Given the description of an element on the screen output the (x, y) to click on. 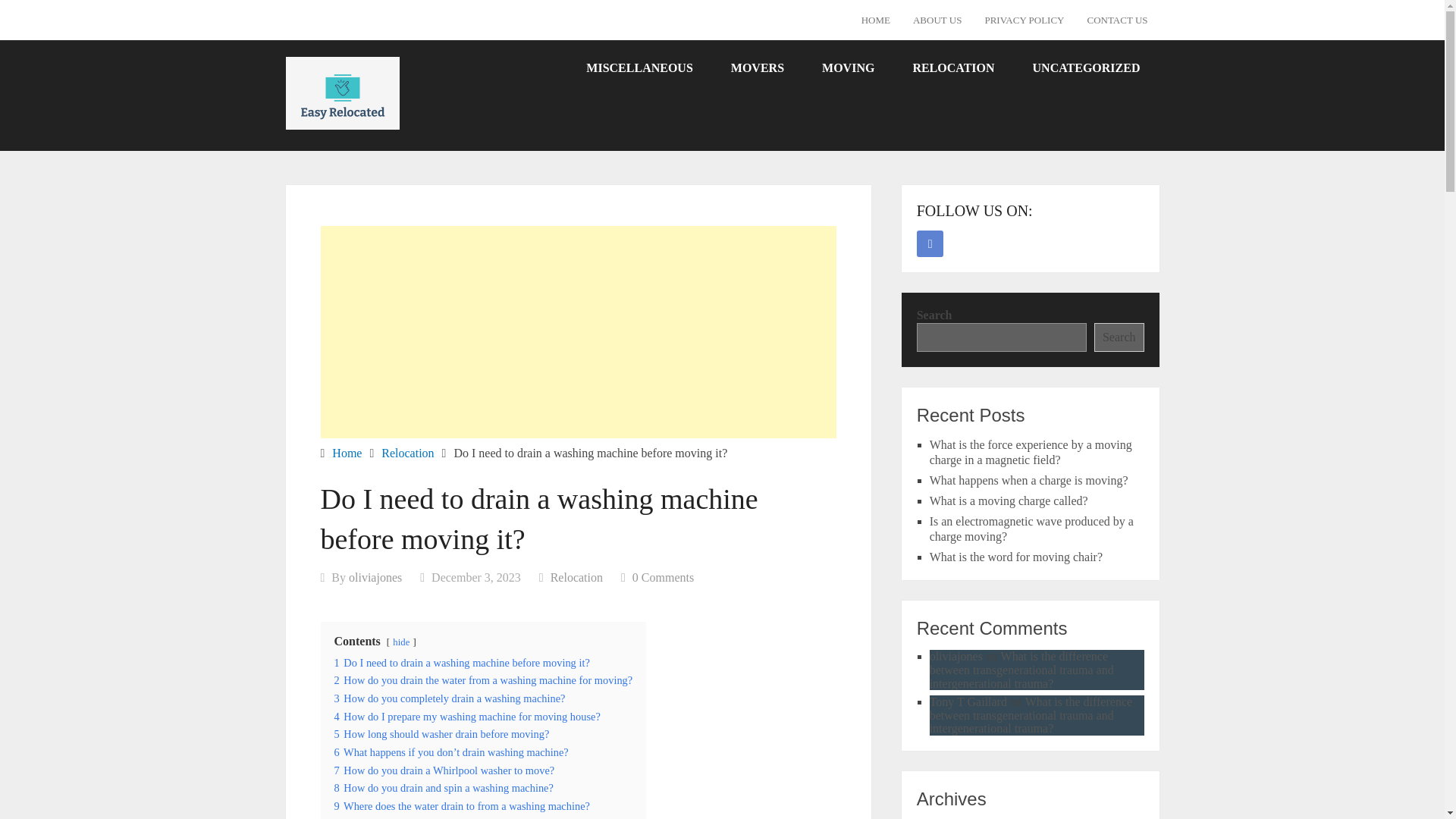
MISCELLANEOUS (639, 67)
PRIVACY POLICY (1023, 20)
3 How do you completely drain a washing machine? (448, 698)
Relocation (576, 576)
4 How do I prepare my washing machine for moving house? (466, 716)
ABOUT US (936, 20)
MOVERS (757, 67)
HOME (875, 20)
RELOCATION (953, 67)
Relocation (407, 451)
hide (401, 642)
1 Do I need to drain a washing machine before moving it? (461, 662)
UNCATEGORIZED (1085, 67)
